Given the description of an element on the screen output the (x, y) to click on. 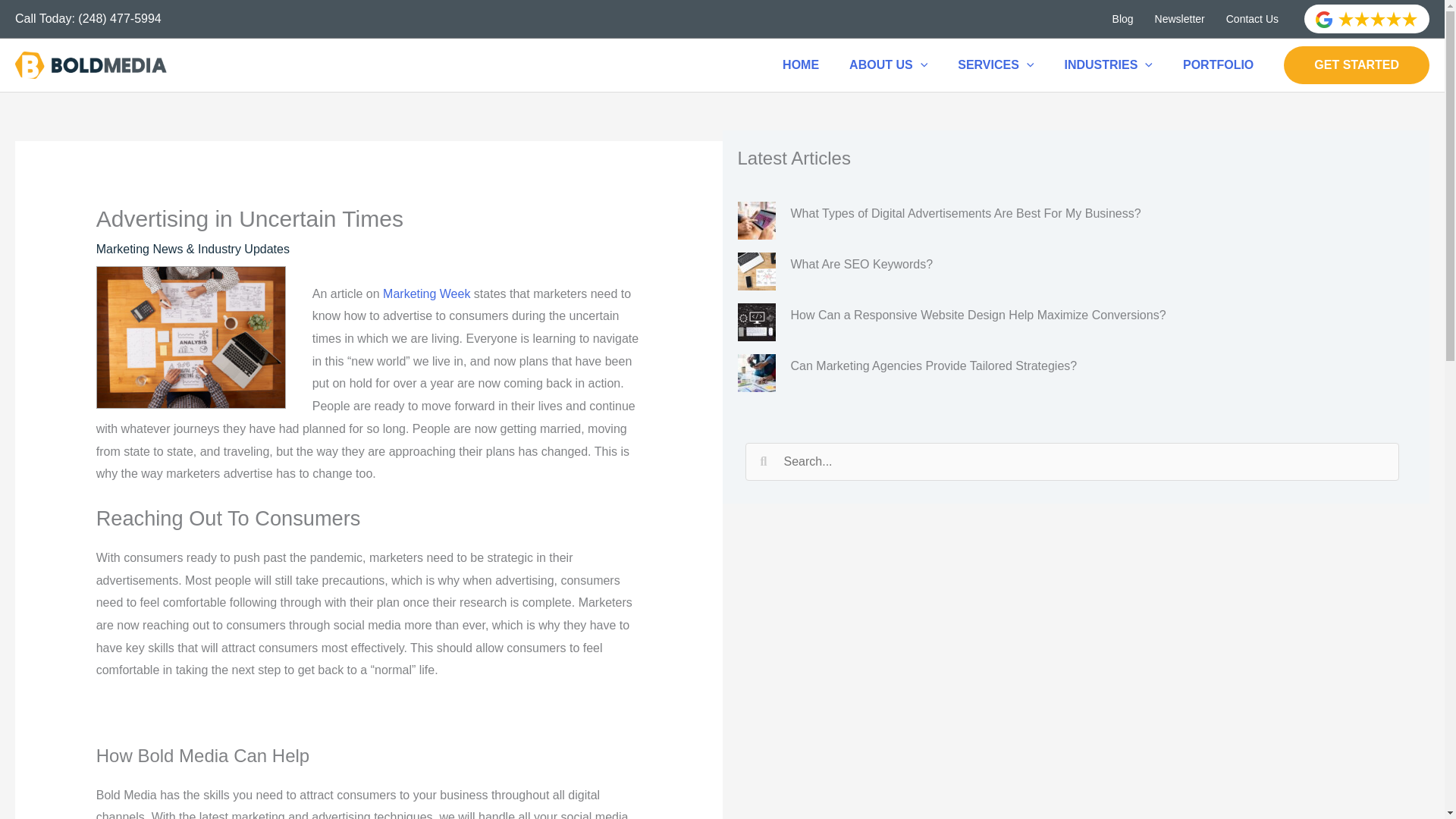
View Box Content (1074, 220)
SERVICES (995, 64)
View Box Content (1074, 271)
What Are SEO Keywords? (755, 271)
INDUSTRIES (1107, 64)
View Box Content (1074, 323)
View Box Content (1074, 373)
Blog (1123, 18)
